Given the description of an element on the screen output the (x, y) to click on. 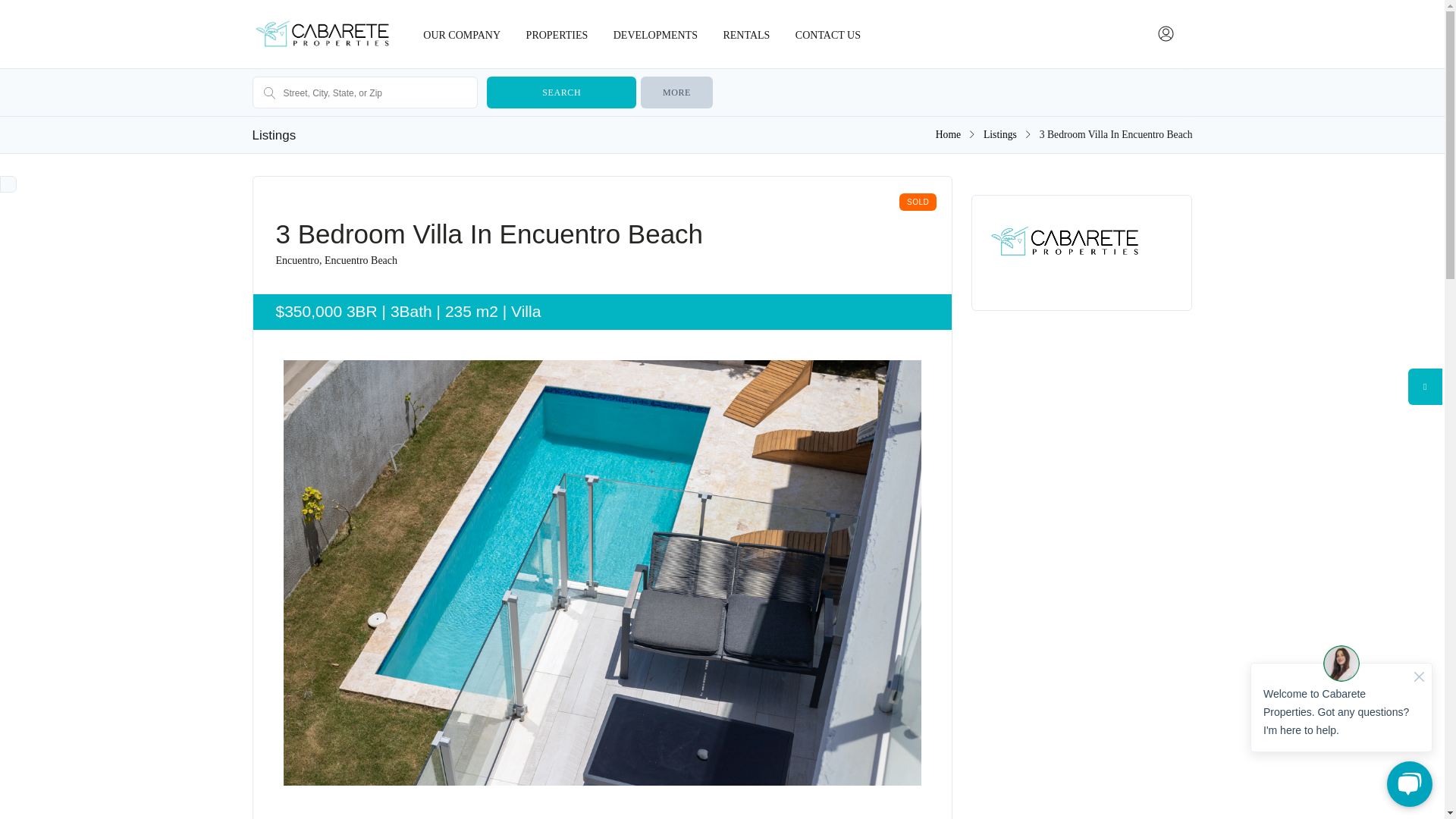
PROPERTIES (557, 33)
DEVELOPMENTS (655, 33)
OUR COMPANY (462, 33)
CONTACT US (828, 33)
RENTALS (745, 33)
Property Search (557, 33)
Search (560, 92)
Cabarete Properties (948, 134)
